Given the description of an element on the screen output the (x, y) to click on. 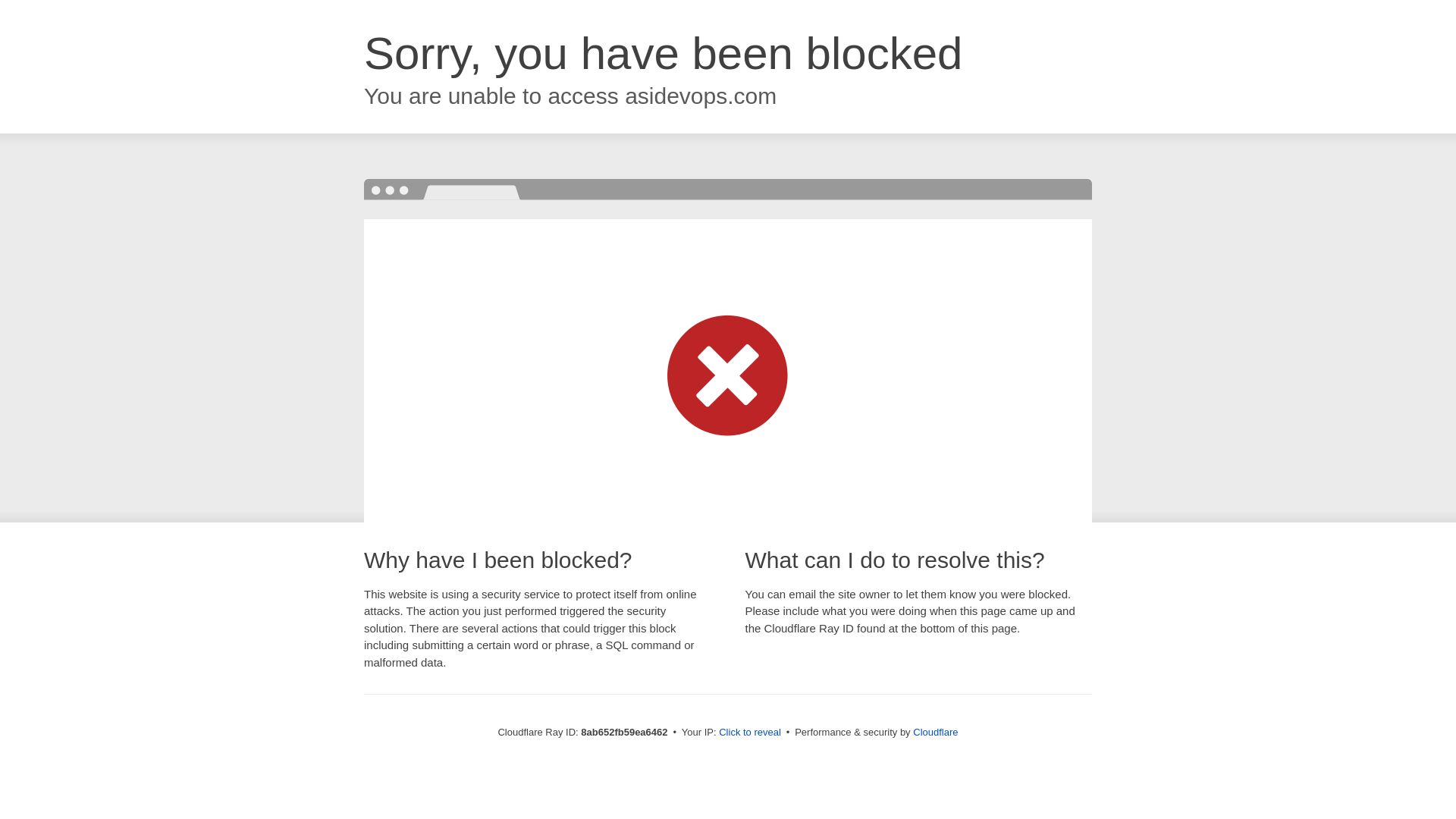
Cloudflare (935, 731)
Click to reveal (749, 732)
